Given the description of an element on the screen output the (x, y) to click on. 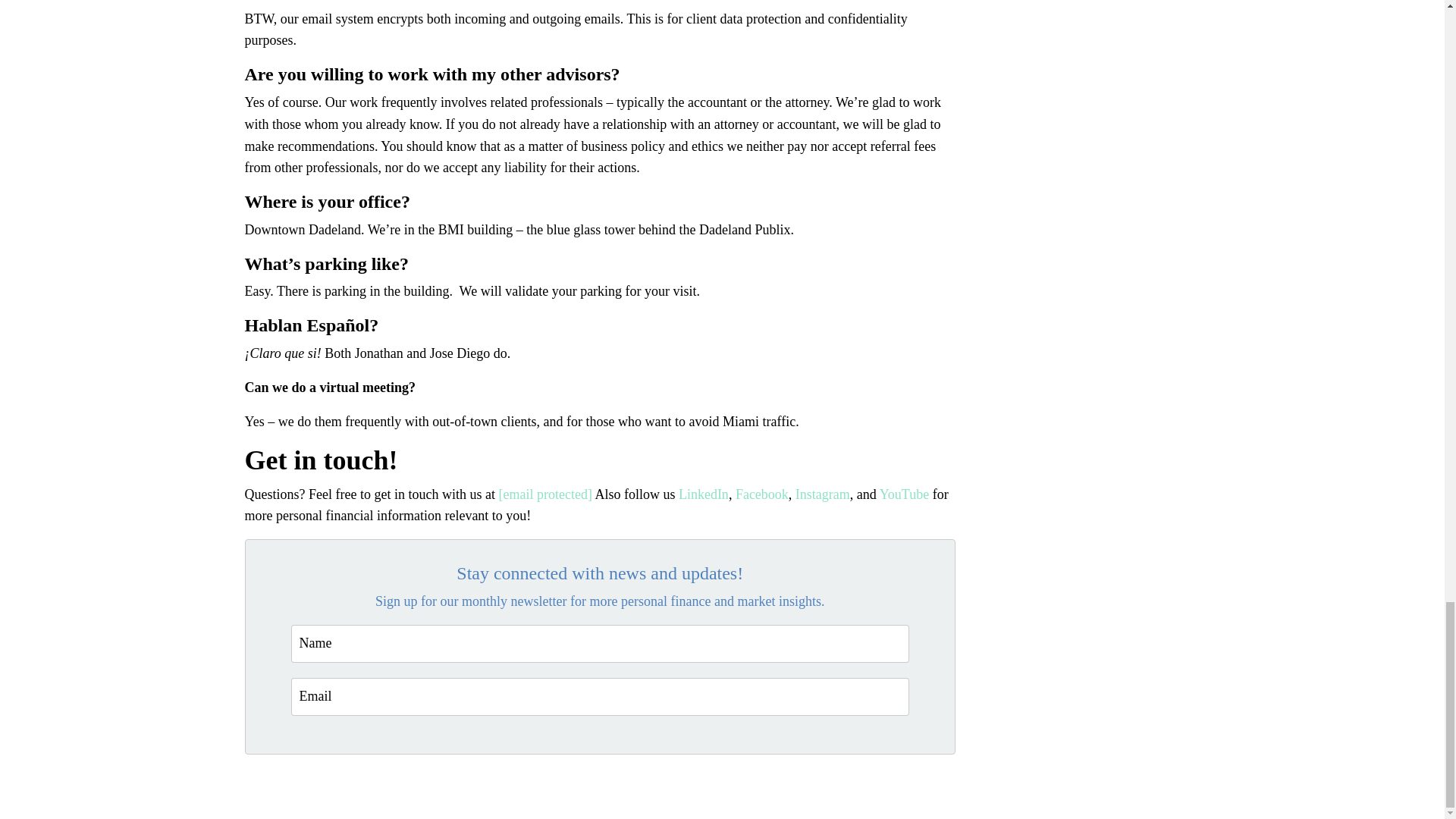
YouTube  (906, 494)
LinkedIn (703, 494)
Instagram (822, 494)
Facebook (762, 494)
